Given the description of an element on the screen output the (x, y) to click on. 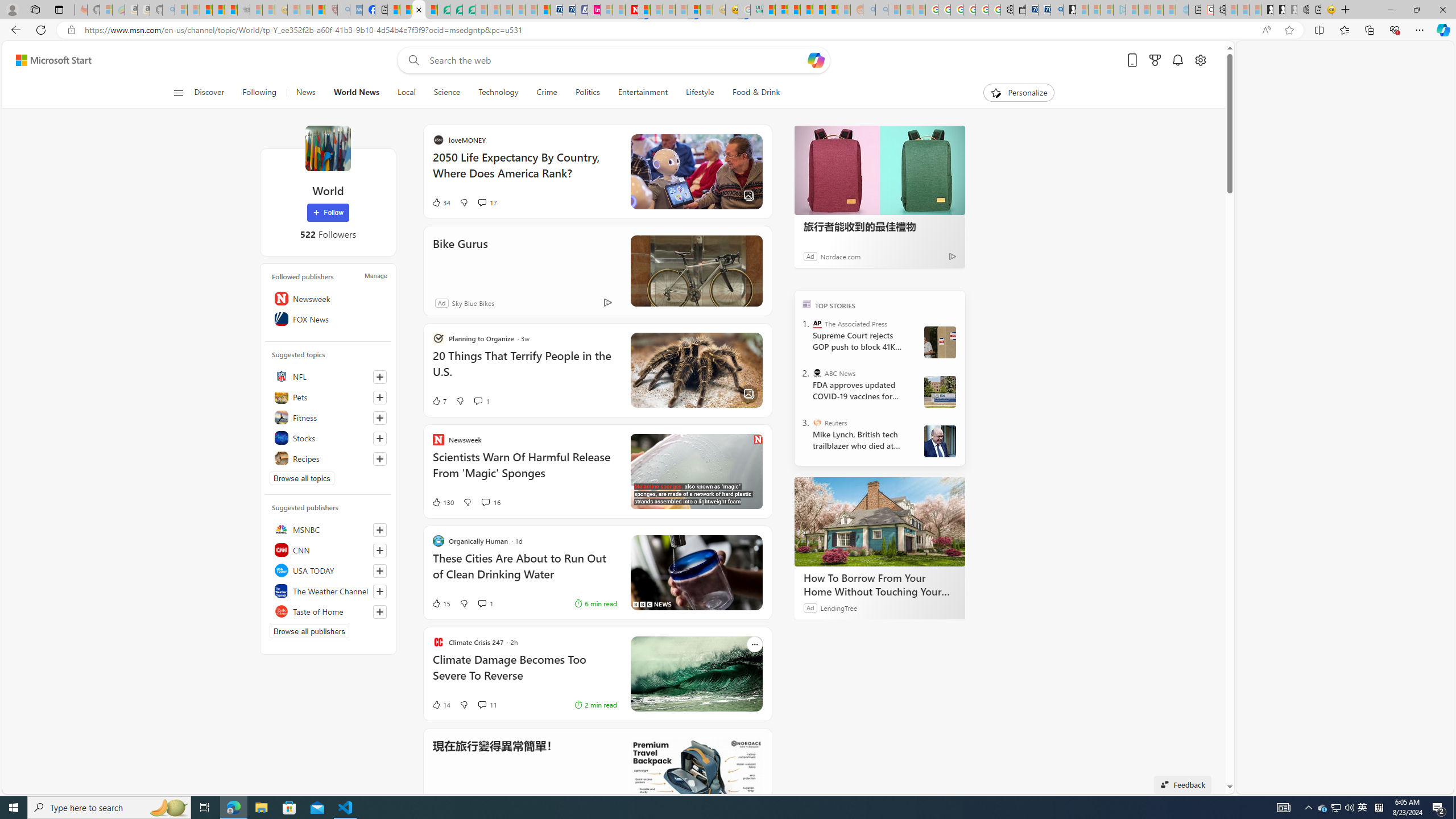
Latest Politics News & Archive | Newsweek.com (631, 9)
ABC News (816, 372)
The Weather Channel (327, 590)
Recipes (327, 458)
Browse all topics (301, 477)
Jobs - lastminute.com Investor Portal (593, 9)
Stocks (327, 437)
130 Like (442, 502)
